Given the description of an element on the screen output the (x, y) to click on. 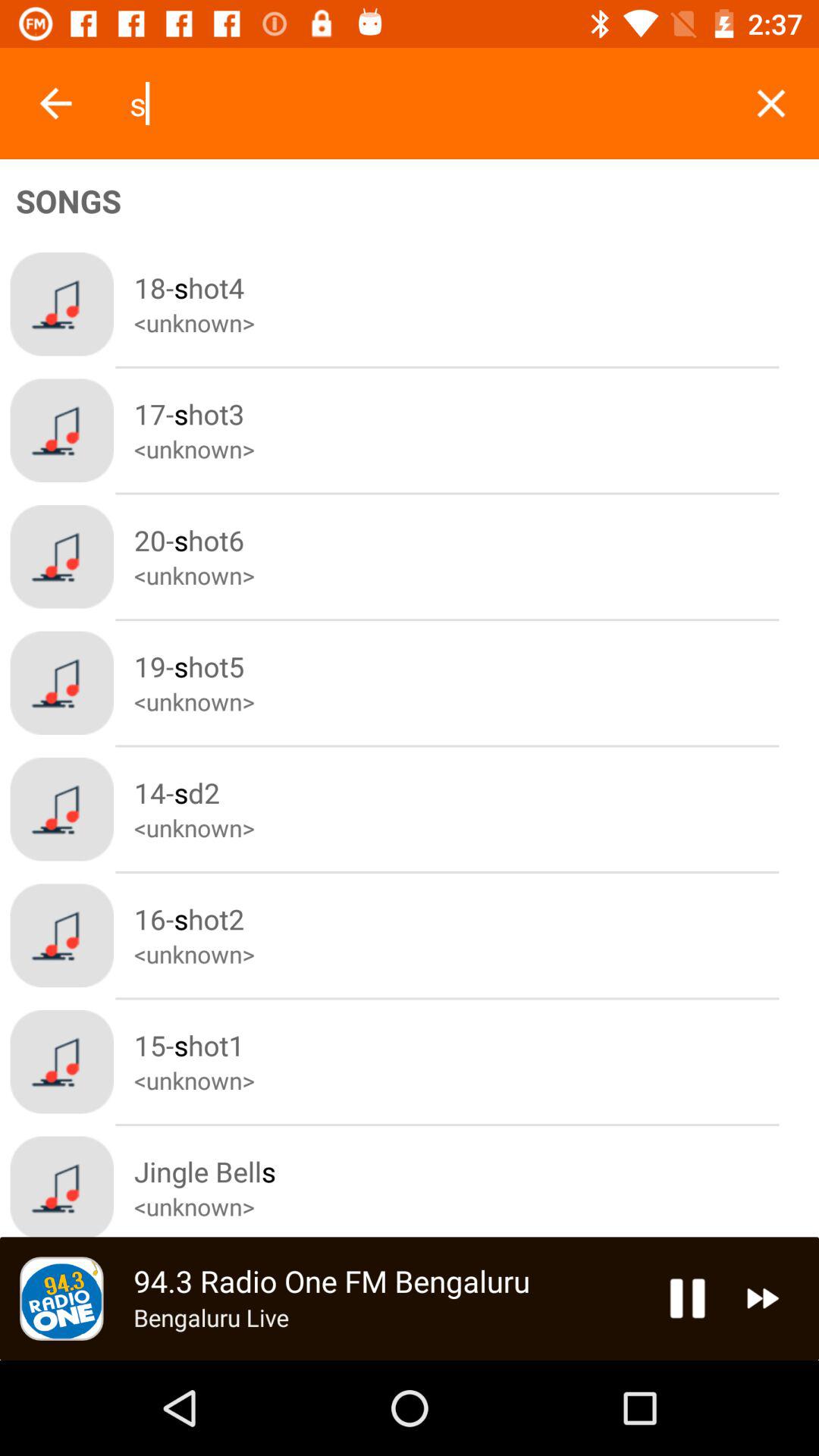
press the item above songs icon (771, 103)
